Given the description of an element on the screen output the (x, y) to click on. 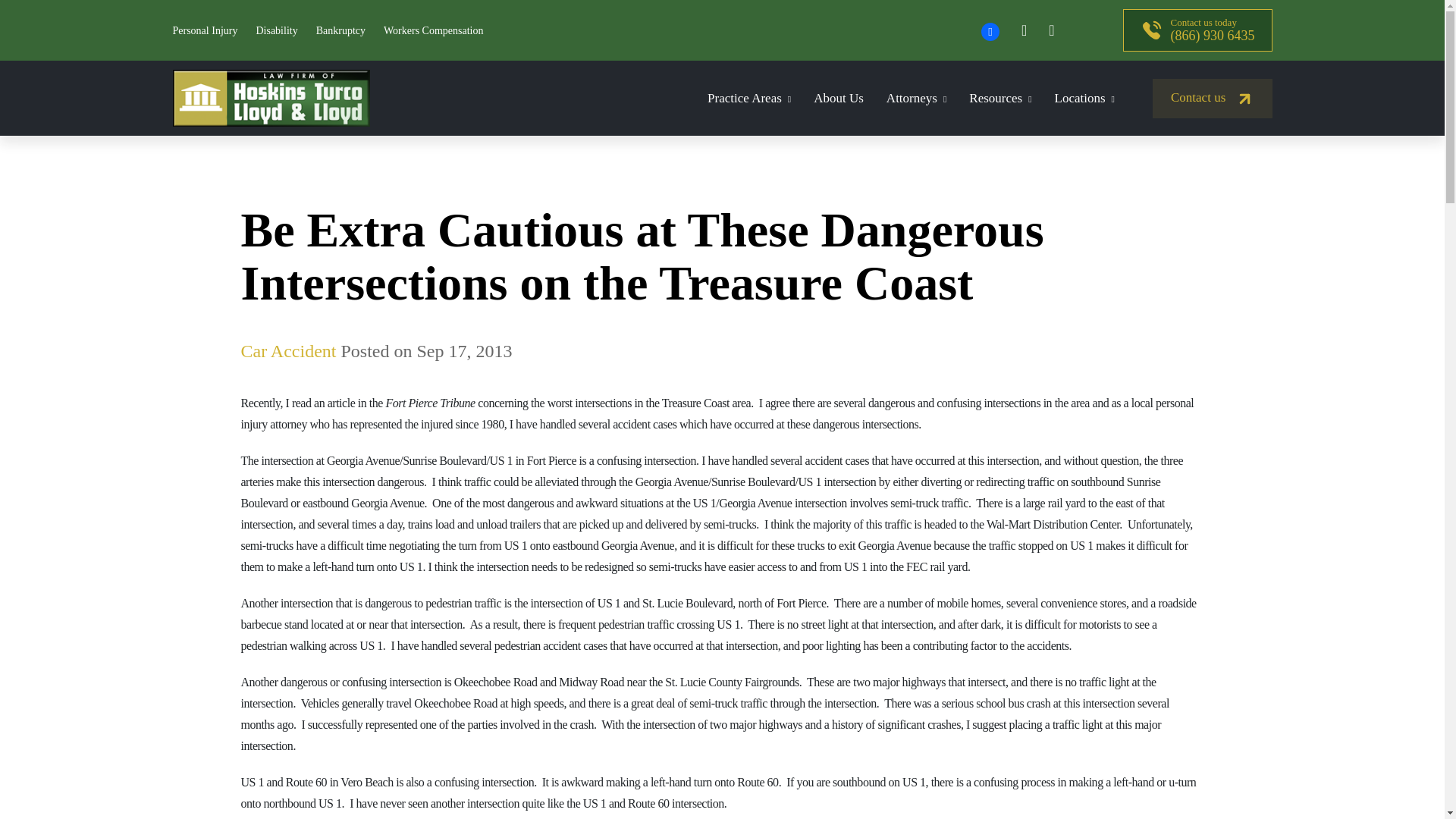
About Us (838, 98)
Attorneys (916, 98)
Personal Injury (205, 30)
Workers Compensation (433, 30)
Disability (276, 30)
Bankruptcy (340, 30)
Practice Areas (748, 98)
